Given the description of an element on the screen output the (x, y) to click on. 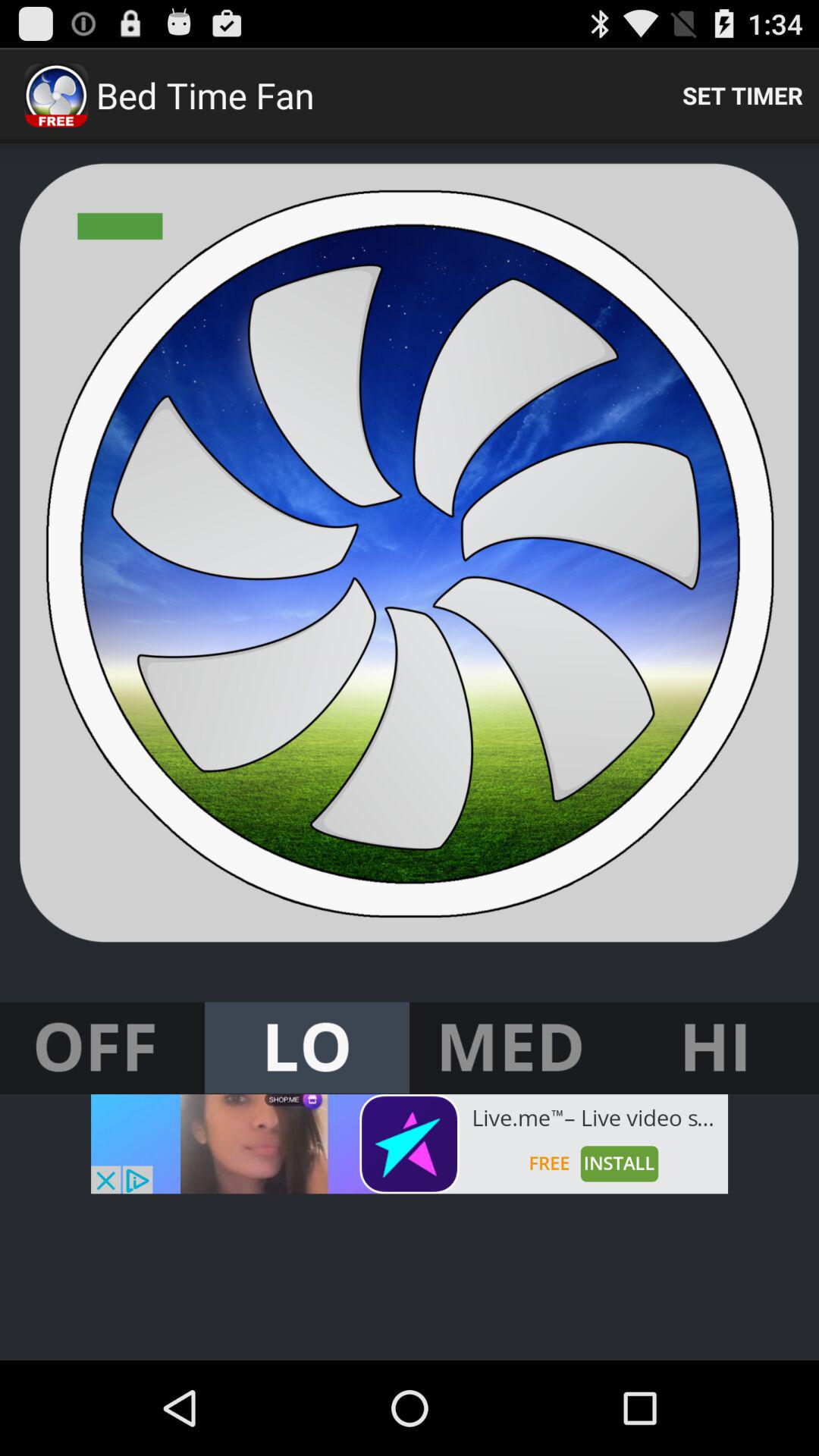
turn fan off (102, 1048)
